Given the description of an element on the screen output the (x, y) to click on. 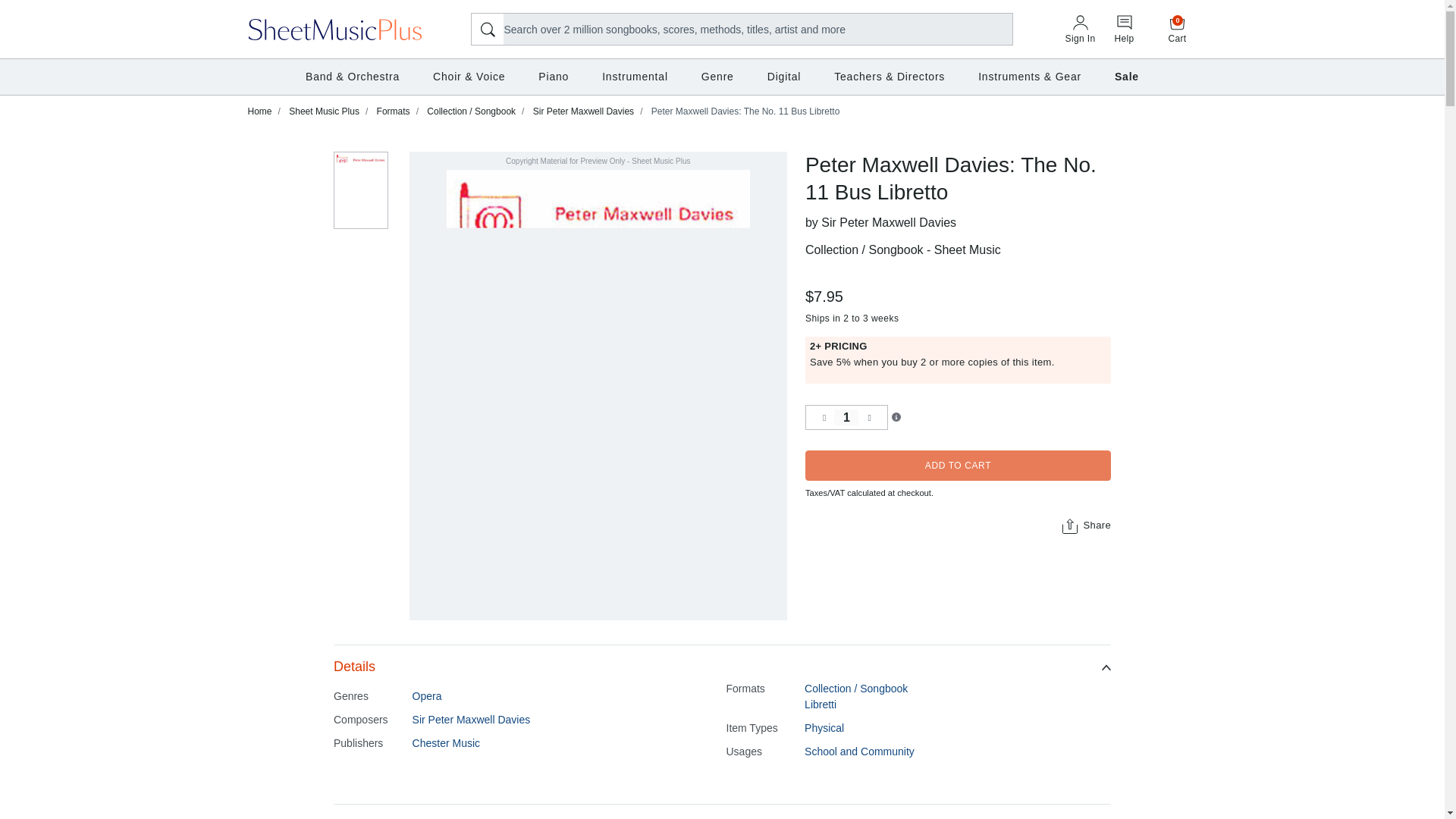
Sheet Music Plus Home (335, 28)
Cart 0 Items (1177, 28)
1 (1177, 28)
Help (846, 417)
Sign In (1123, 29)
